Given the description of an element on the screen output the (x, y) to click on. 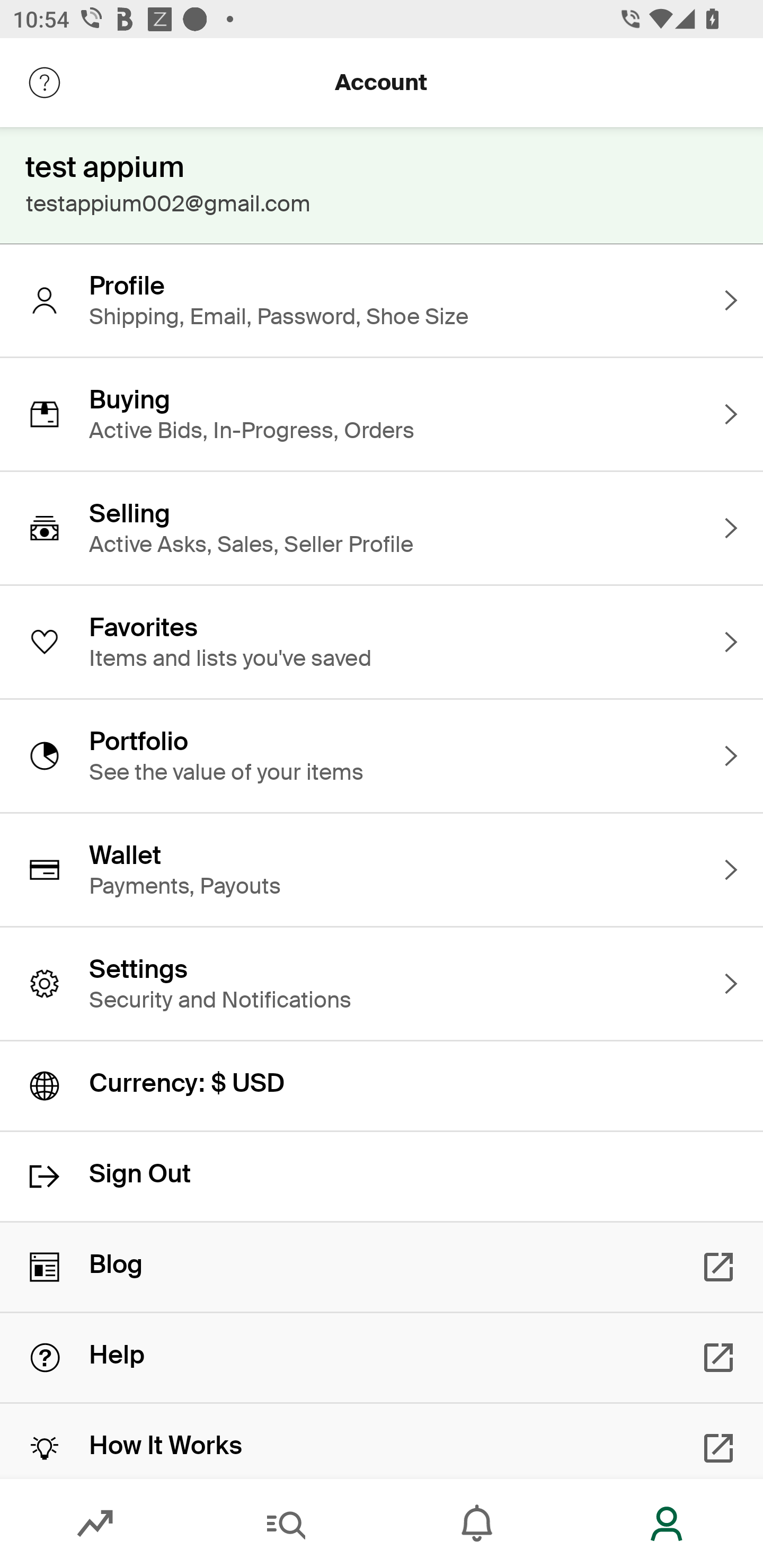
Profile Shipping, Email, Password, Shoe Size (381, 299)
Buying Active Bids, In-Progress, Orders (381, 413)
Selling Active Asks, Sales, Seller Profile (381, 527)
Favorites Items and lists you've saved (381, 641)
Portfolio See the value of your items (381, 755)
Wallet Payments, Payouts (381, 869)
Settings Security and Notifications (381, 983)
Currency: $ USD (381, 1085)
Sign Out (381, 1176)
Blog (381, 1266)
Help (381, 1357)
How It Works (381, 1440)
Market (95, 1523)
Search (285, 1523)
Inbox (476, 1523)
